Given the description of an element on the screen output the (x, y) to click on. 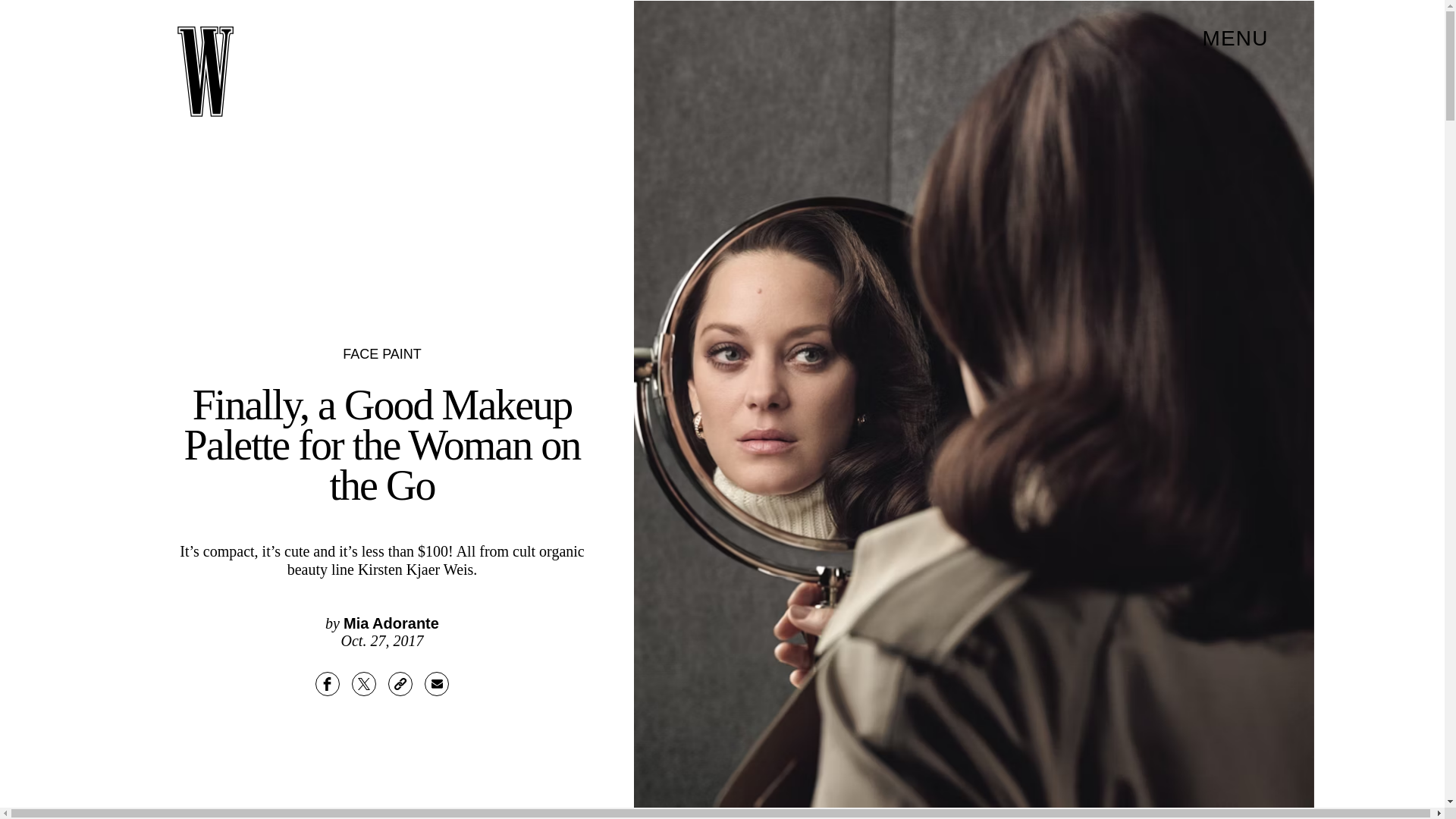
Share (327, 683)
Mia Adorante (391, 623)
Post (363, 683)
Copy link (400, 683)
Send via email (436, 683)
